Given the description of an element on the screen output the (x, y) to click on. 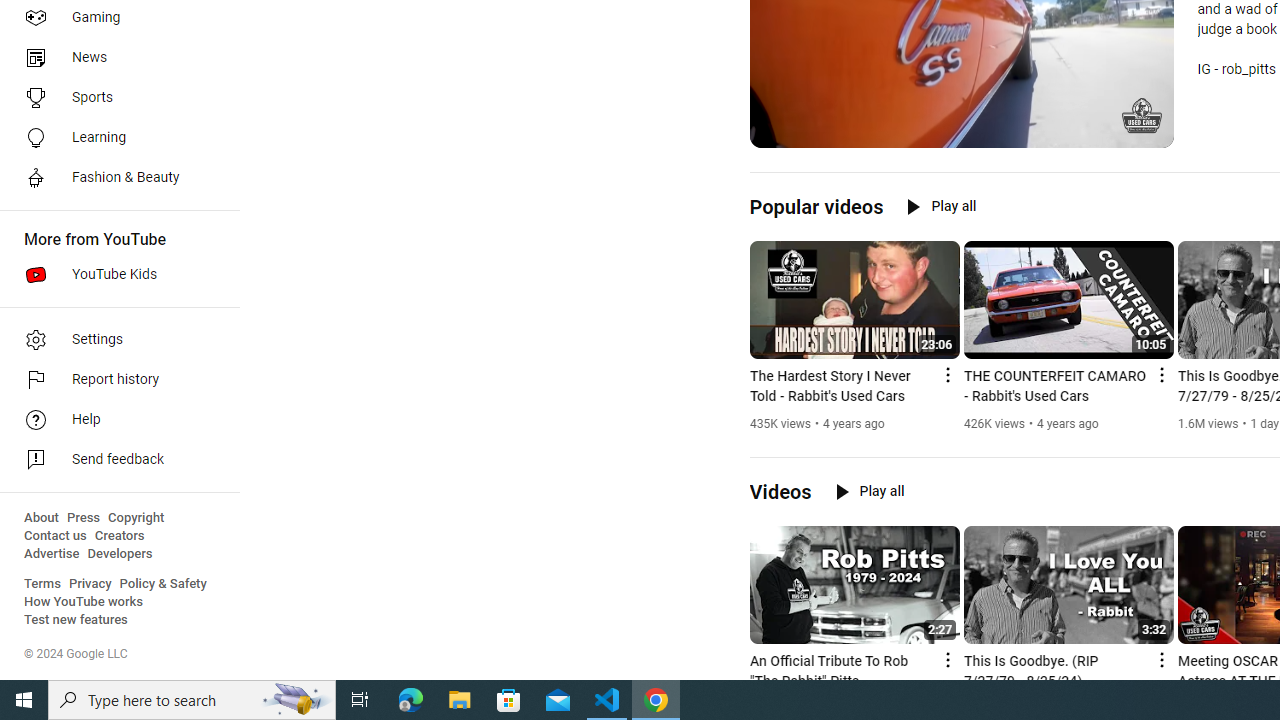
Creators (118, 536)
Full screen (f) (1143, 130)
About (41, 518)
Play all (870, 491)
Sports (113, 97)
Channel watermark (1141, 115)
Popular videos (816, 206)
Advertise (51, 554)
Fashion & Beauty (113, 177)
News (113, 57)
Subtitles/closed captions unavailable (1071, 130)
